Given the description of an element on the screen output the (x, y) to click on. 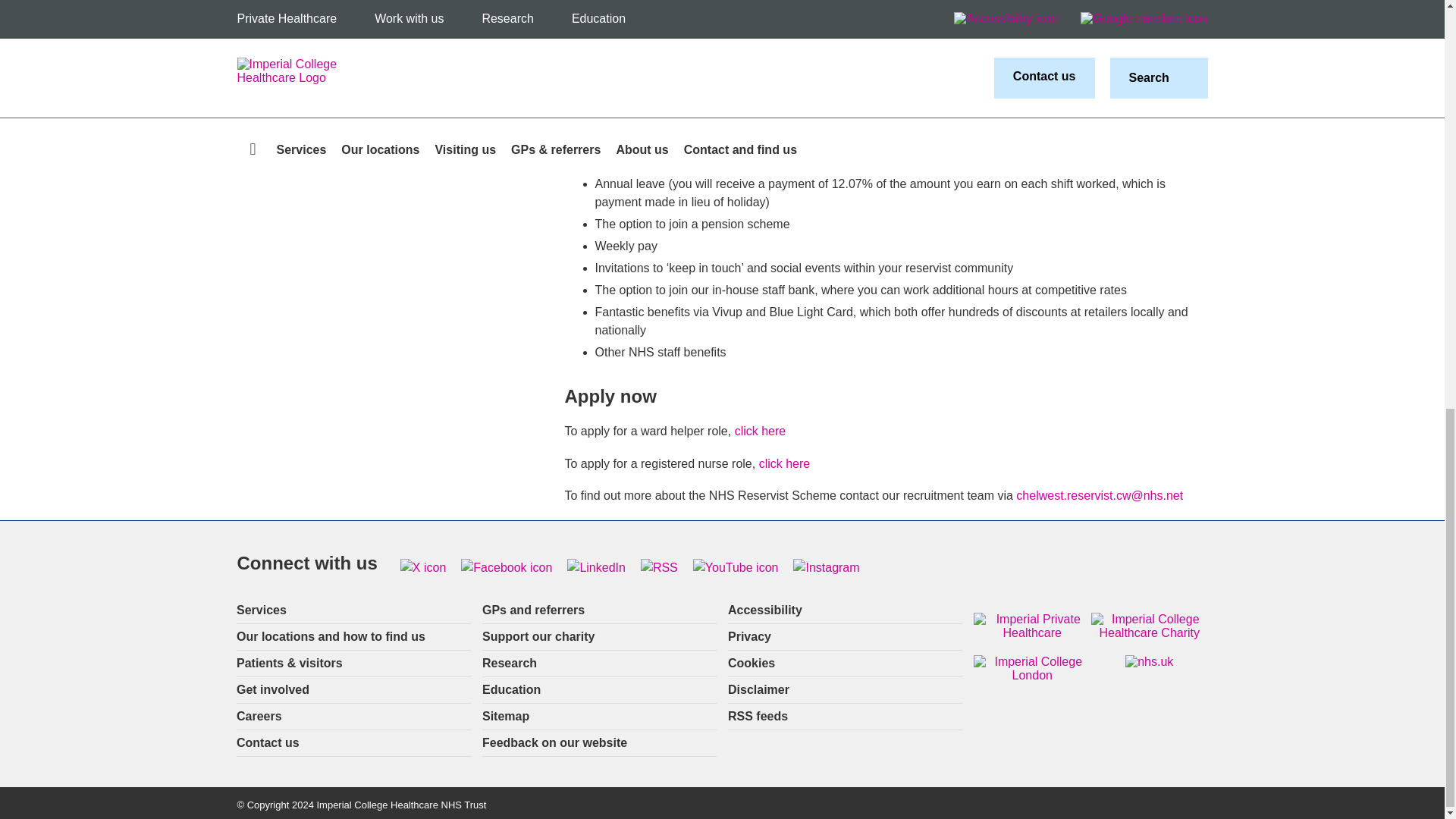
Imperial College Healthcare Private Care (393, 38)
Imperial Private healthcare (1032, 625)
Apprenticeships (393, 10)
NHS Choices (1149, 662)
charity alternate (1149, 625)
